Given the description of an element on the screen output the (x, y) to click on. 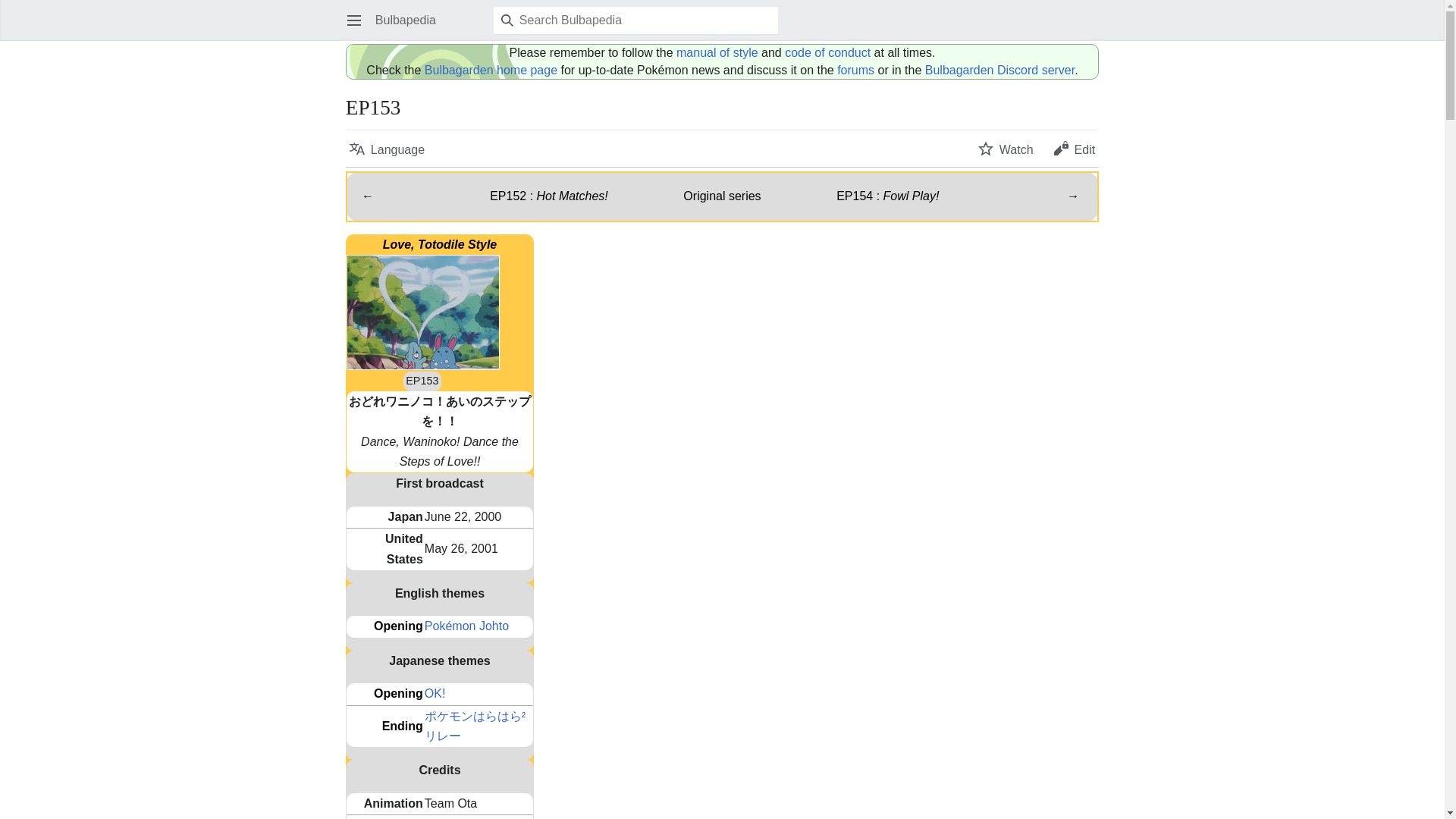
Opening (398, 625)
Original series (721, 195)
Opening (398, 693)
List of Japanese opening themes (398, 693)
Ending (402, 725)
forums (856, 69)
Bulbagarden home page (491, 69)
Language (386, 148)
Open main menu (353, 20)
Watch (1005, 148)
List of original series episodes (721, 195)
EP154 : Fowl Play! (887, 195)
EP152 (548, 195)
manual of style (717, 51)
Edit (1074, 148)
